Given the description of an element on the screen output the (x, y) to click on. 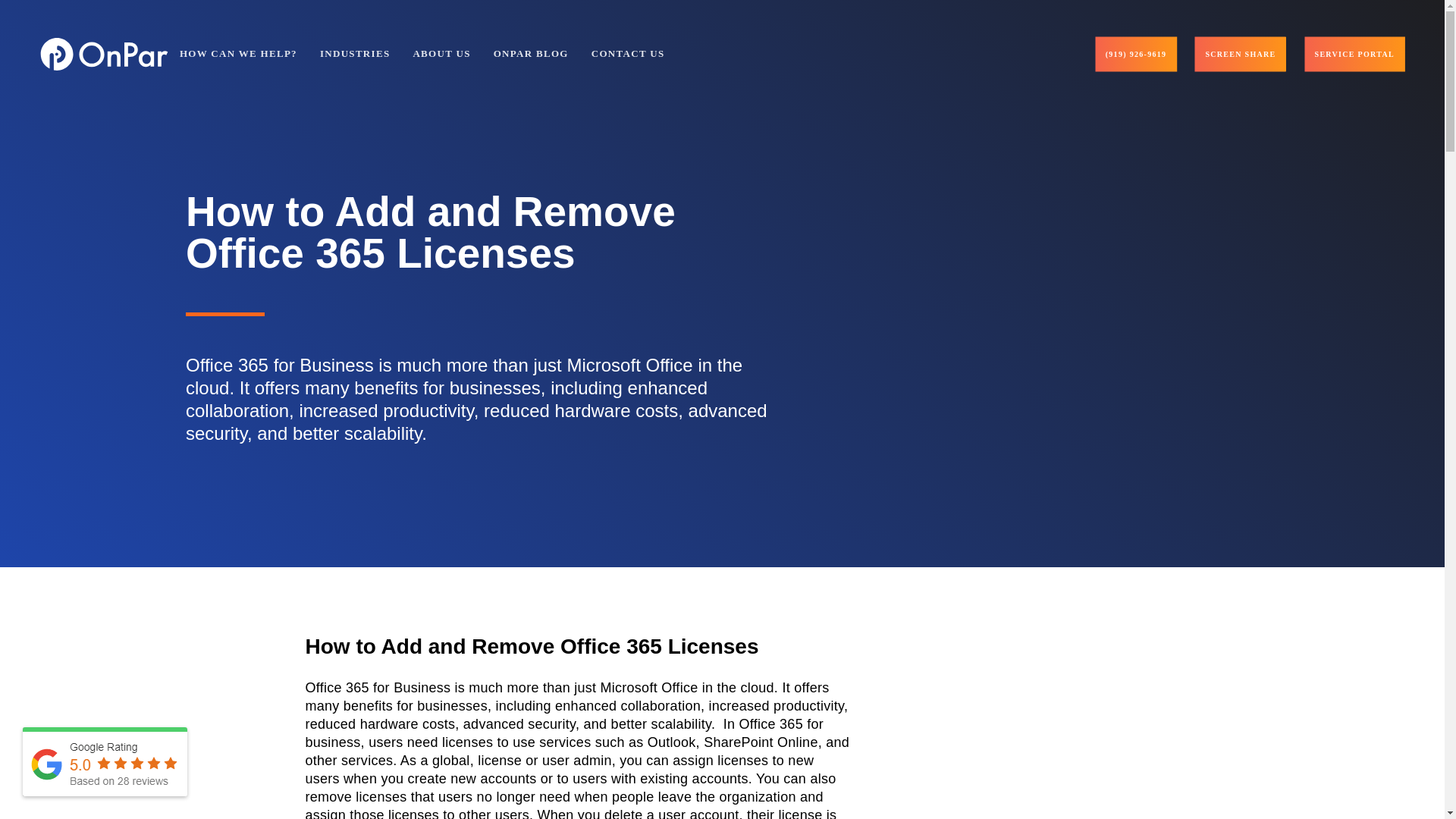
ABOUT US (441, 54)
CALL US NOW (1136, 53)
INDUSTRIES (354, 54)
HOW CAN WE HELP? (238, 54)
